Given the description of an element on the screen output the (x, y) to click on. 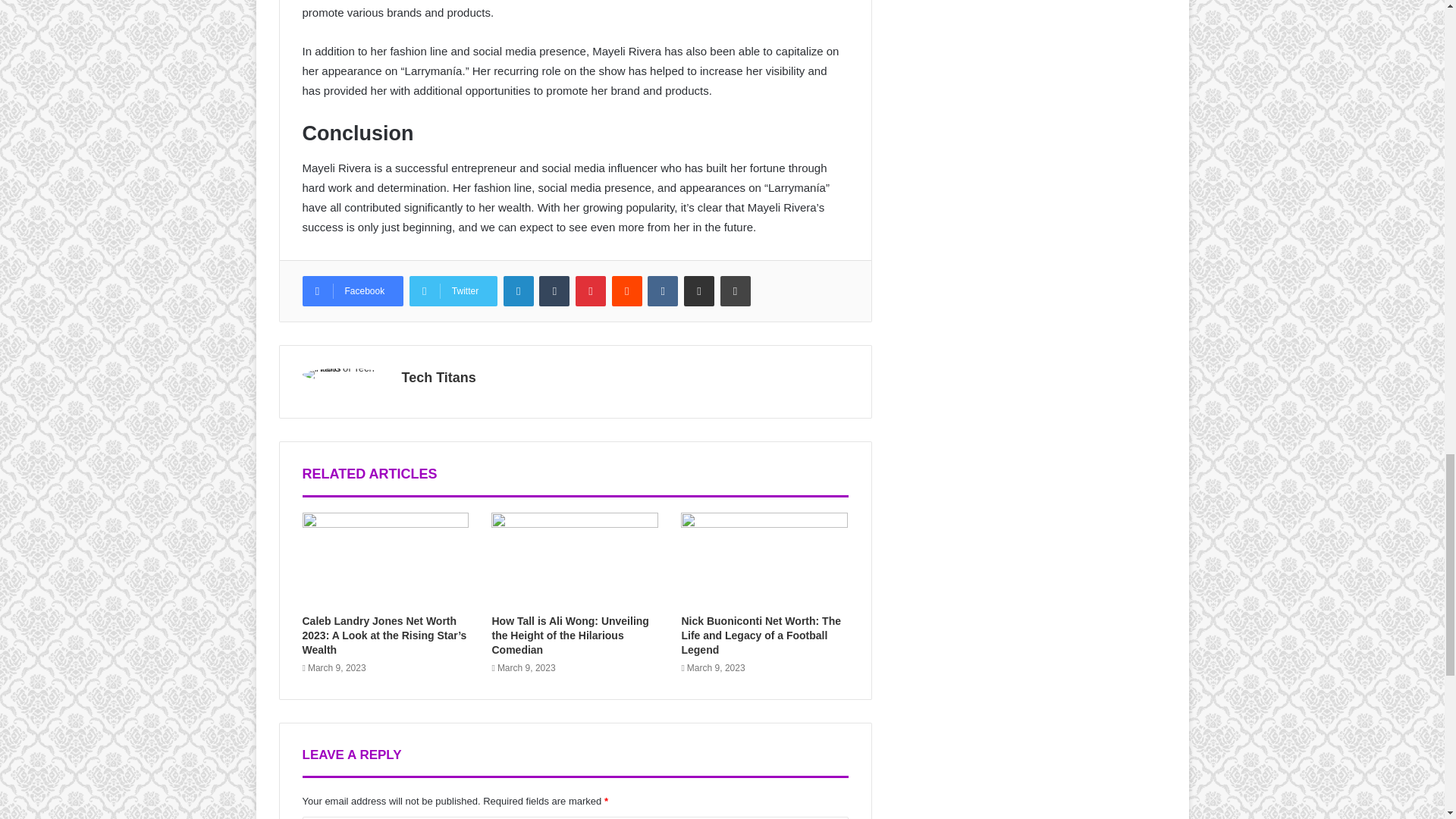
Facebook (352, 291)
VKontakte (662, 291)
Share via Email (699, 291)
LinkedIn (518, 291)
Twitter (453, 291)
Facebook (352, 291)
Reddit (626, 291)
Tech Titans (438, 377)
Tumblr (553, 291)
Twitter (453, 291)
